Given the description of an element on the screen output the (x, y) to click on. 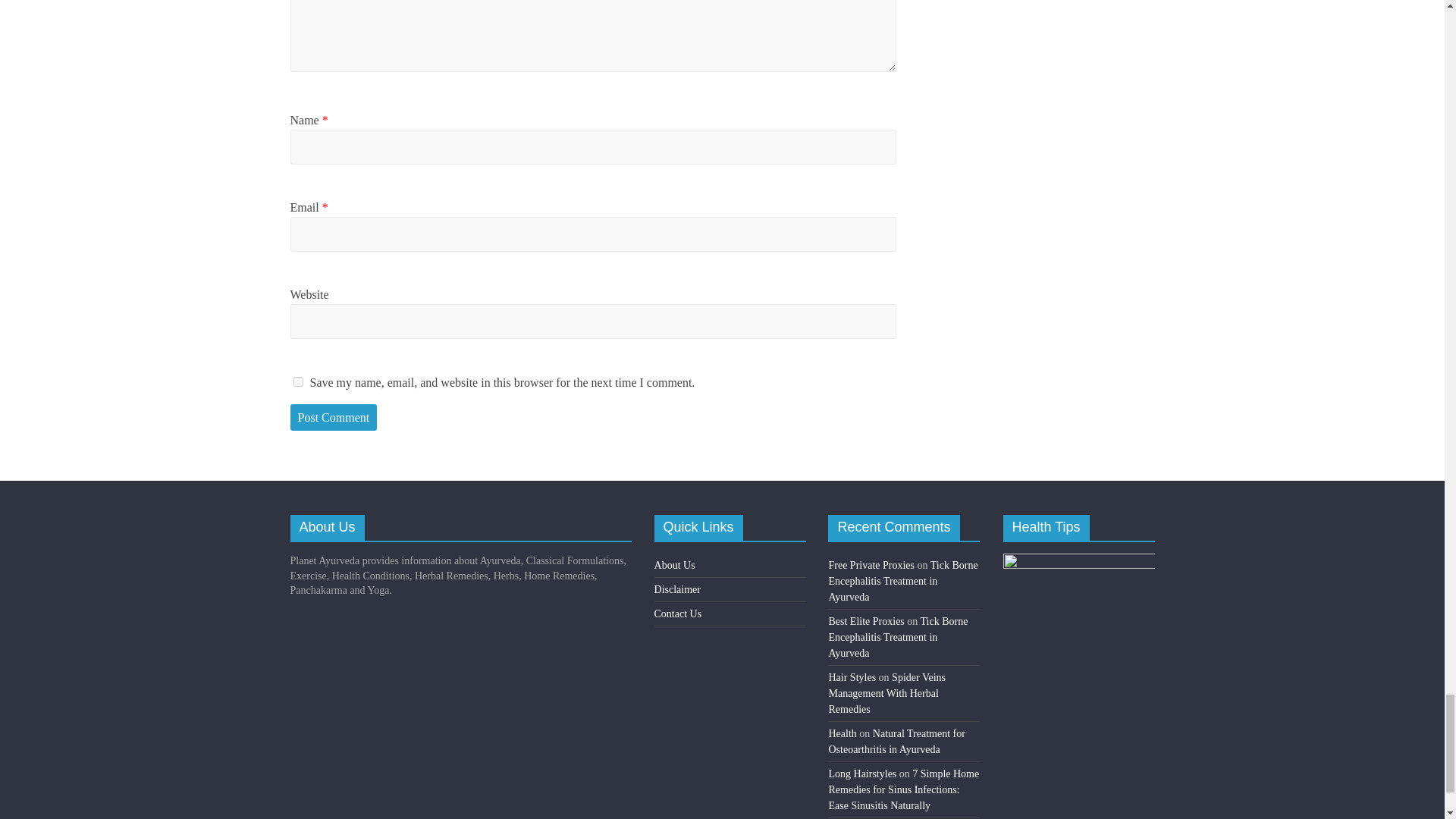
yes (297, 381)
Post Comment (333, 417)
